Given the description of an element on the screen output the (x, y) to click on. 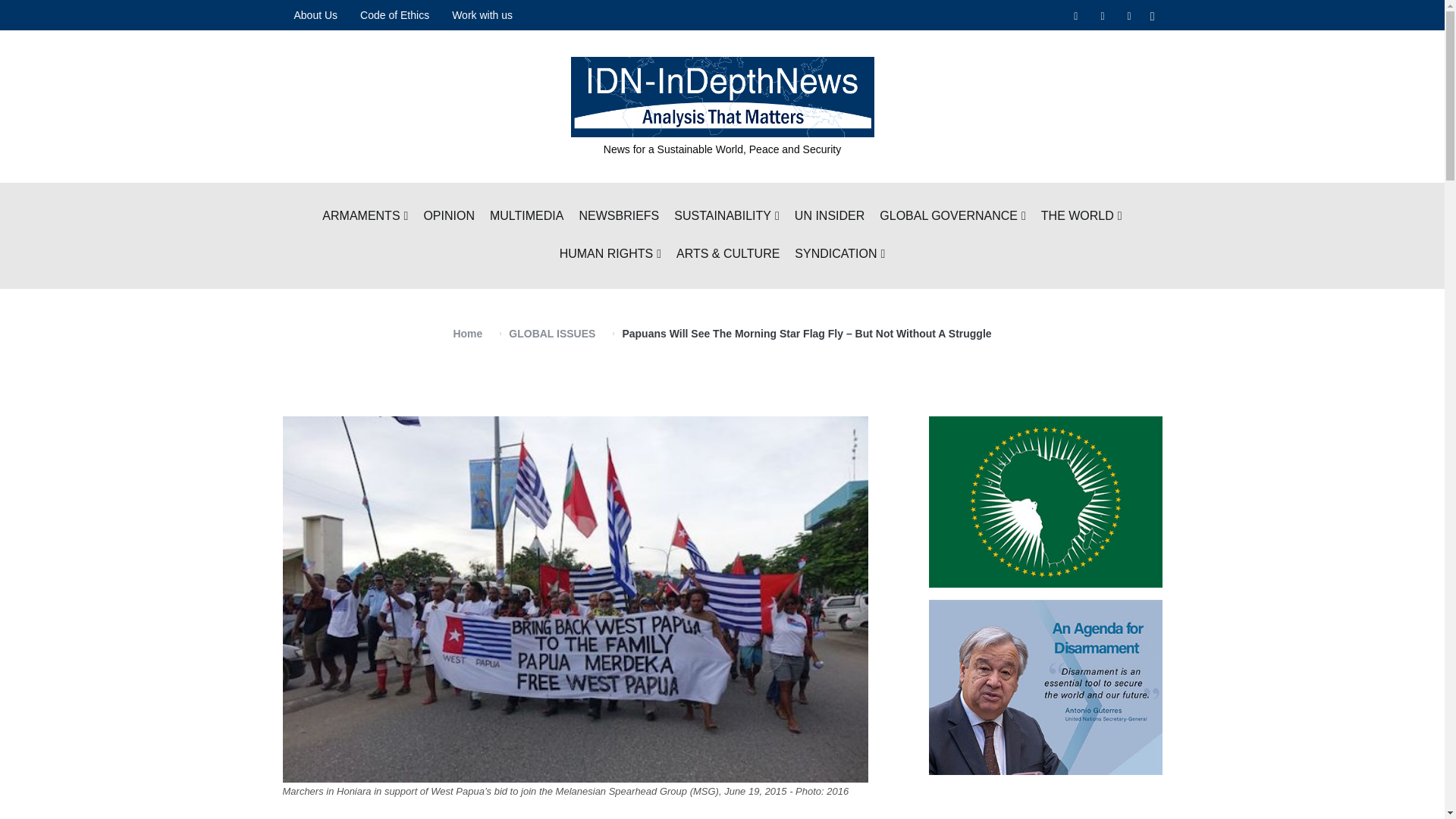
UN INSIDER (829, 216)
OPINION (448, 216)
SUSTAINABILITY (726, 216)
Code of Ethics (395, 14)
MULTIMEDIA (526, 216)
ARMAMENTS (364, 216)
GLOBAL GOVERNANCE (952, 216)
Work with us (482, 14)
About Us (315, 14)
NEWSBRIEFS (618, 216)
